Given the description of an element on the screen output the (x, y) to click on. 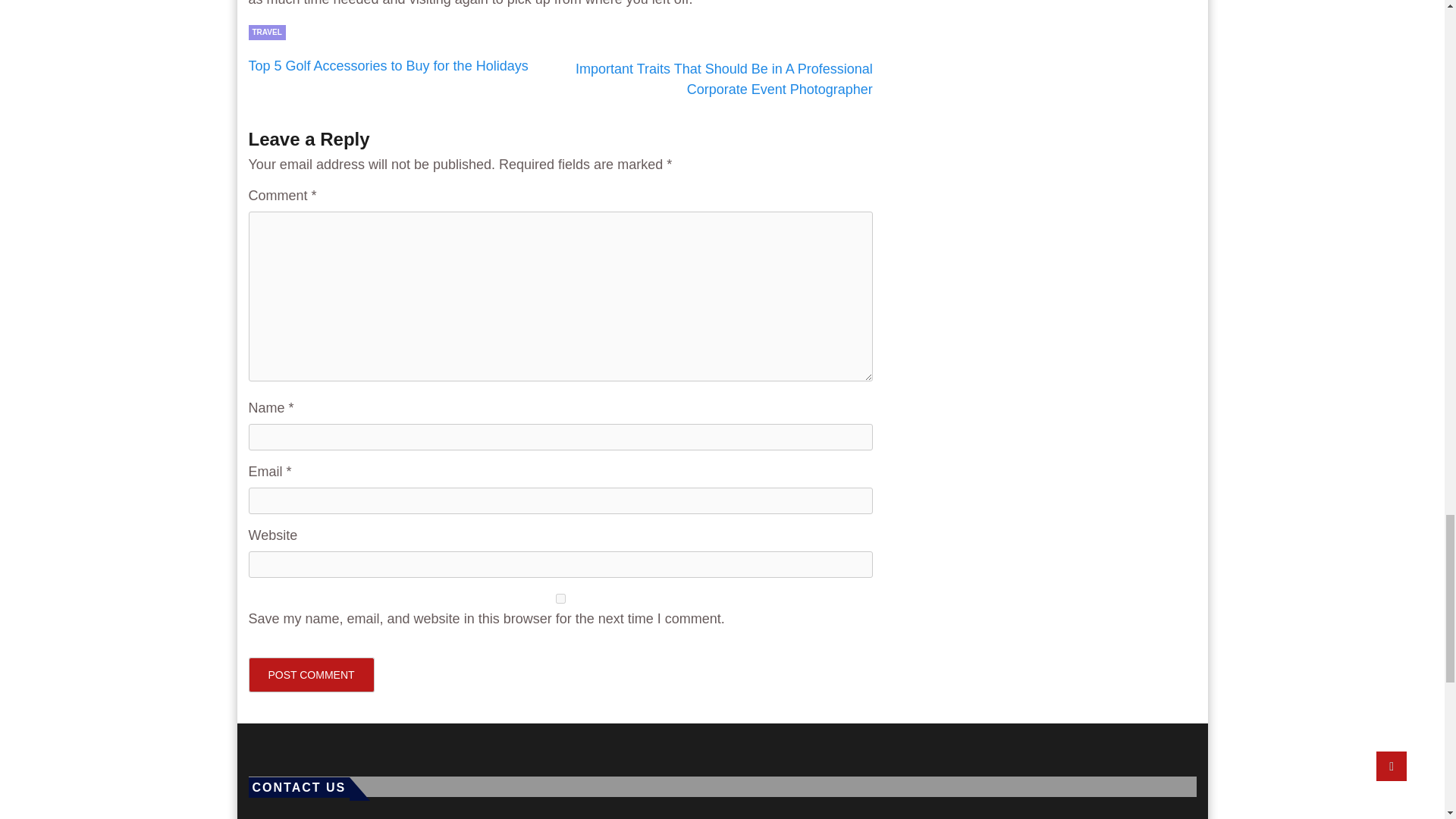
Post Comment (311, 674)
yes (560, 598)
TRAVEL (266, 32)
Top 5 Golf Accessories to Buy for the Holidays (388, 65)
